Given the description of an element on the screen output the (x, y) to click on. 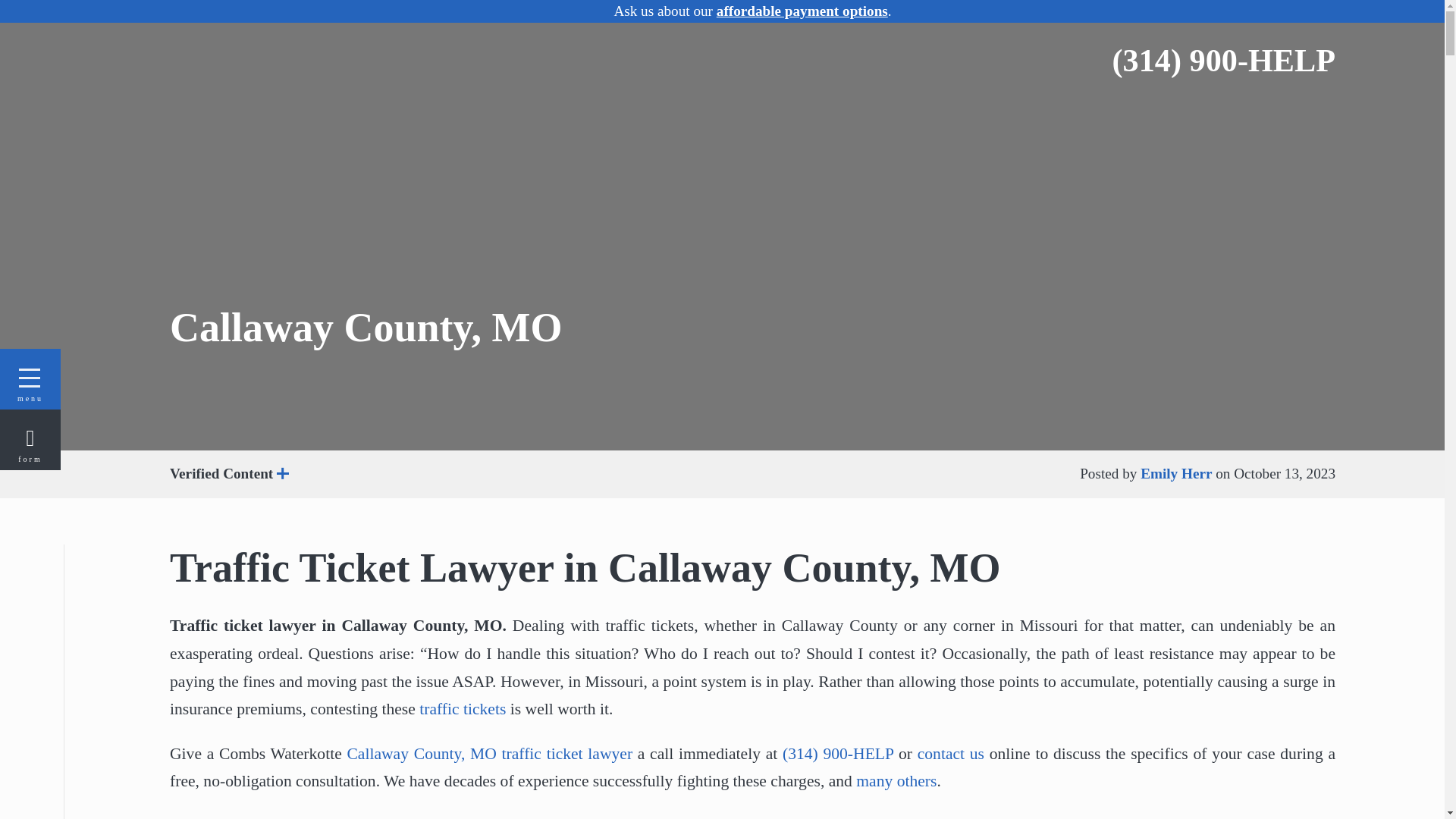
Traffic Ticket Lawyer Callaway County, MO - Bankrate (978, 817)
Callaway County, MO traffic ticket lawyer (488, 753)
traffic tickets (462, 709)
rising insurance rates (978, 817)
affordable payment options (802, 10)
contact us (950, 753)
Verified Content (315, 474)
many others (896, 781)
